Given the description of an element on the screen output the (x, y) to click on. 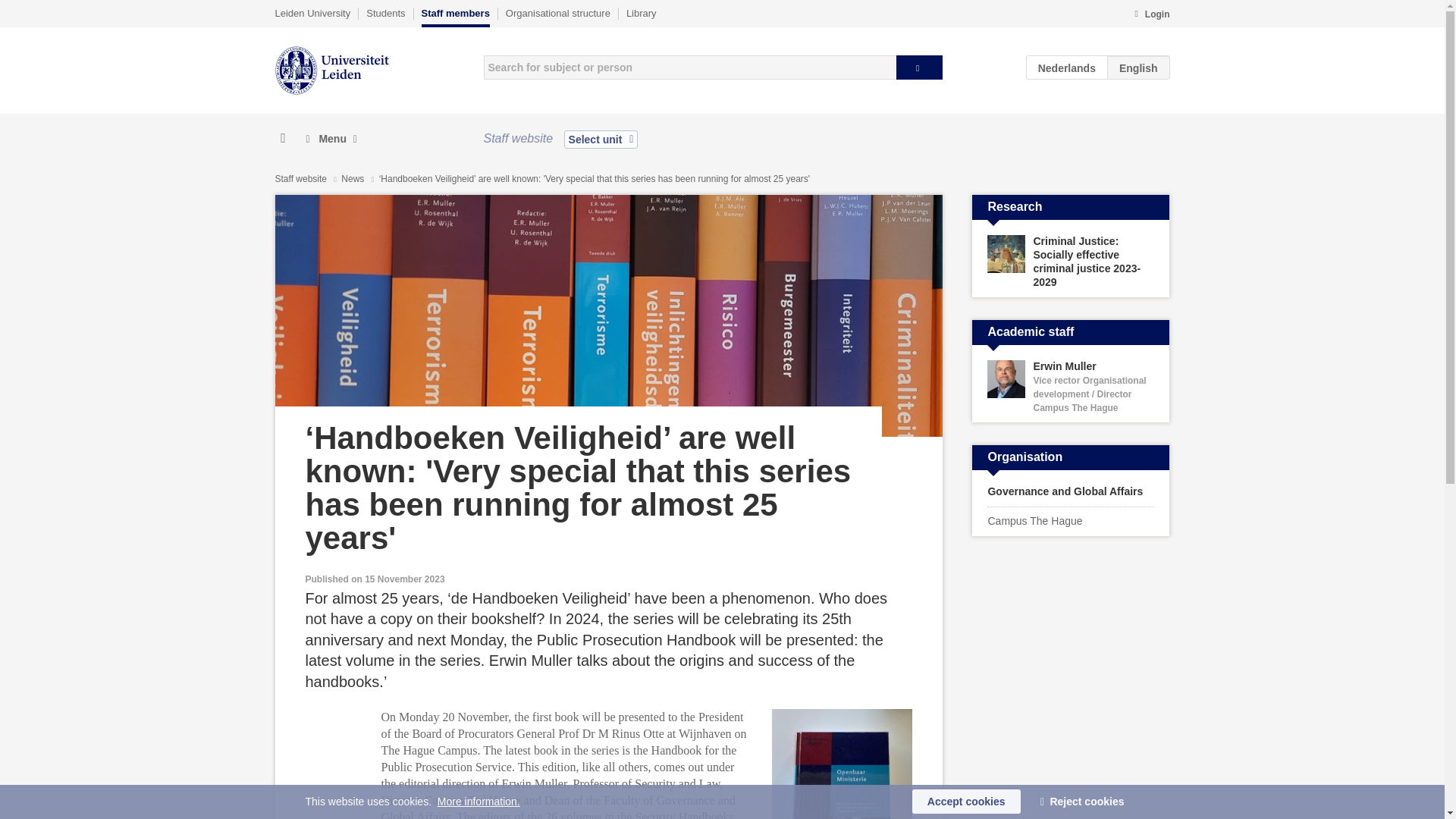
Staff website (300, 178)
NL (1067, 67)
News (353, 178)
Staff members (455, 17)
Organisational structure (557, 13)
Menu (330, 139)
Governance and Global Affairs (1070, 491)
Library (641, 13)
Students (385, 13)
Select unit (601, 139)
Search (919, 67)
Leiden University (312, 13)
Login (1151, 14)
